Given the description of an element on the screen output the (x, y) to click on. 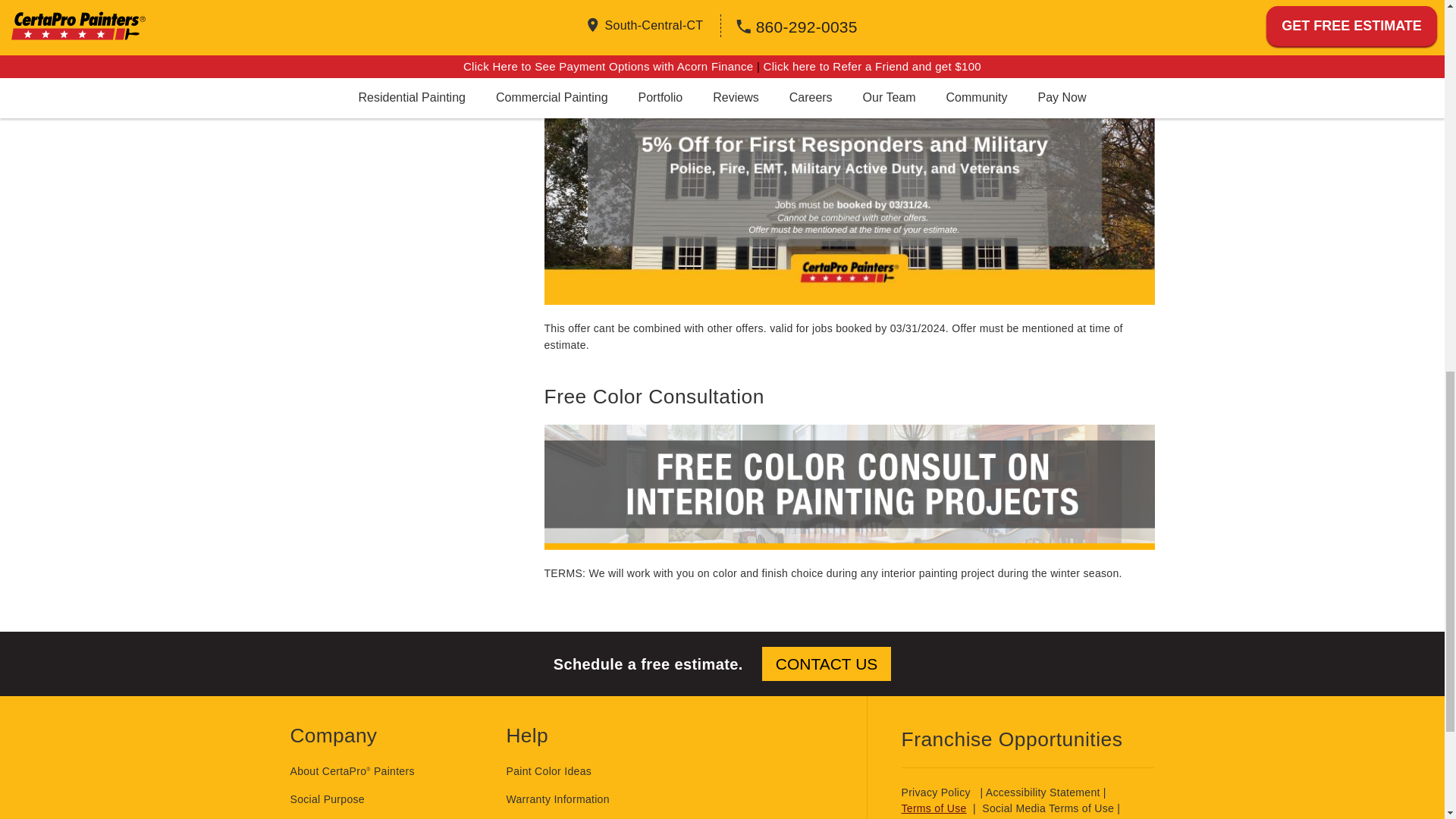
CONTACT US (826, 663)
